Given the description of an element on the screen output the (x, y) to click on. 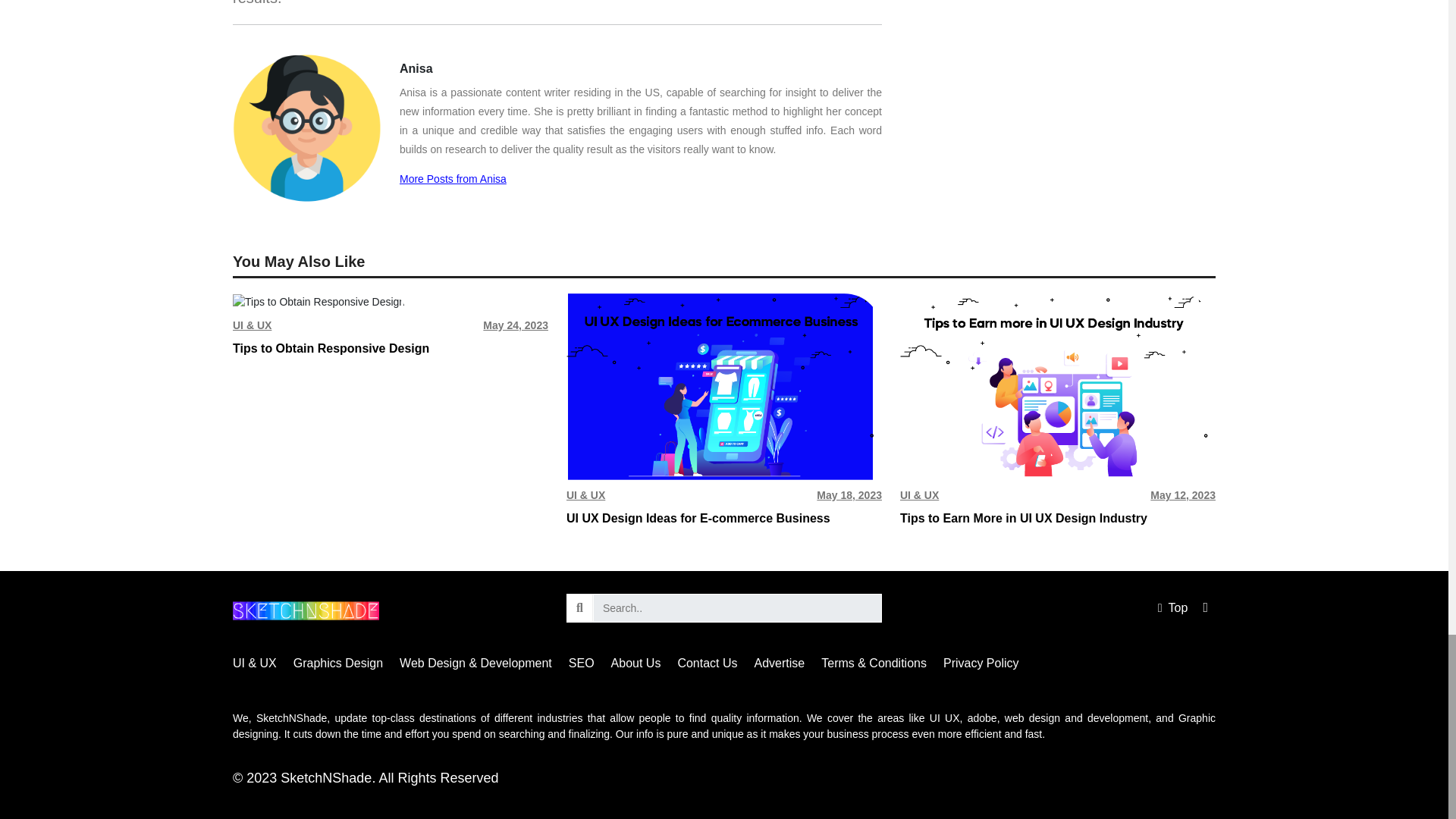
More Posts from Anisa (452, 178)
Tips to Earn More in UI UX Design Industry (1057, 386)
Tips to Obtain Responsive Design (318, 302)
UI UX Design Ideas for E-commerce Business (724, 386)
